Given the description of an element on the screen output the (x, y) to click on. 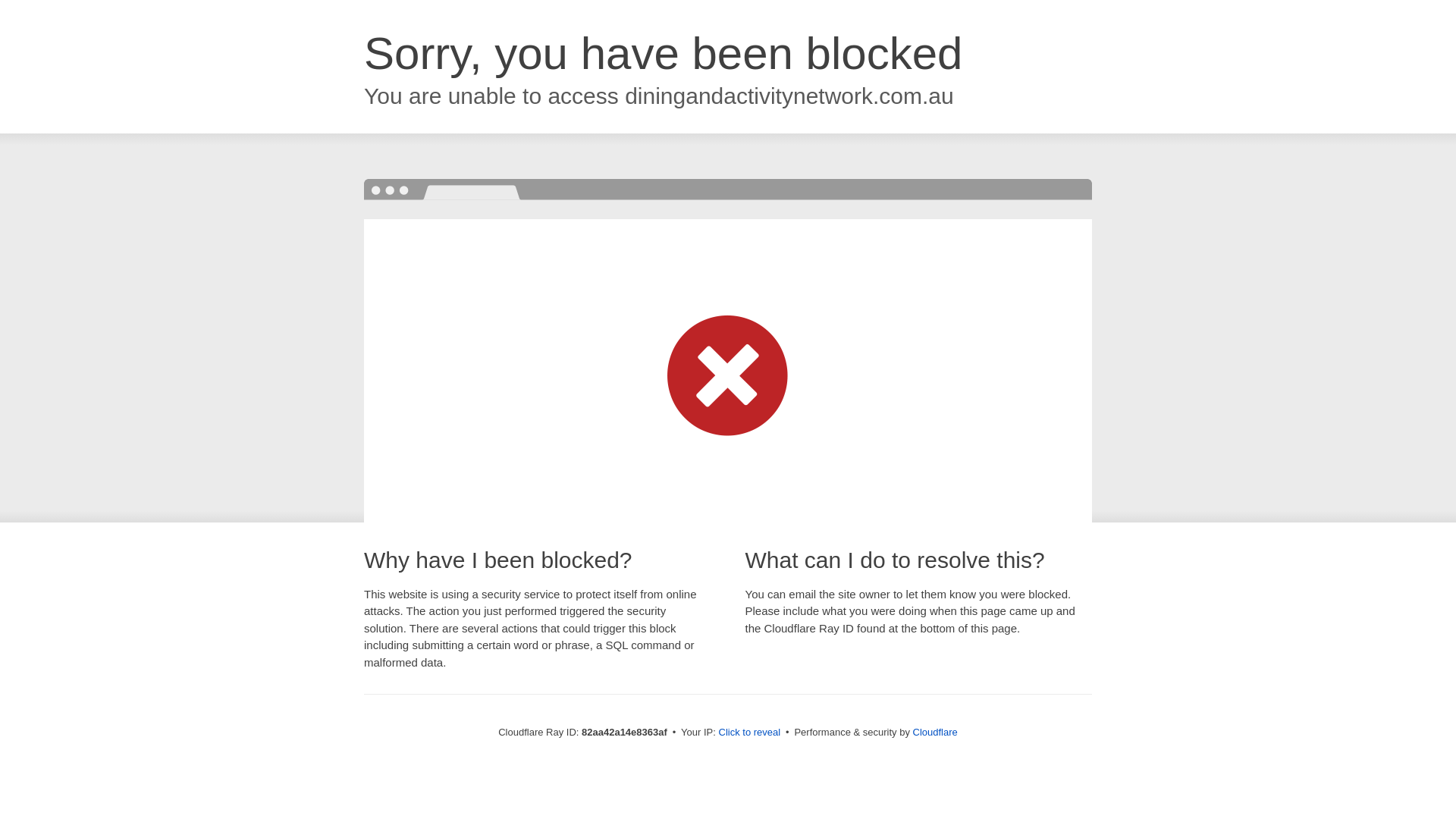
Click to reveal Element type: text (749, 732)
Cloudflare Element type: text (935, 731)
